Given the description of an element on the screen output the (x, y) to click on. 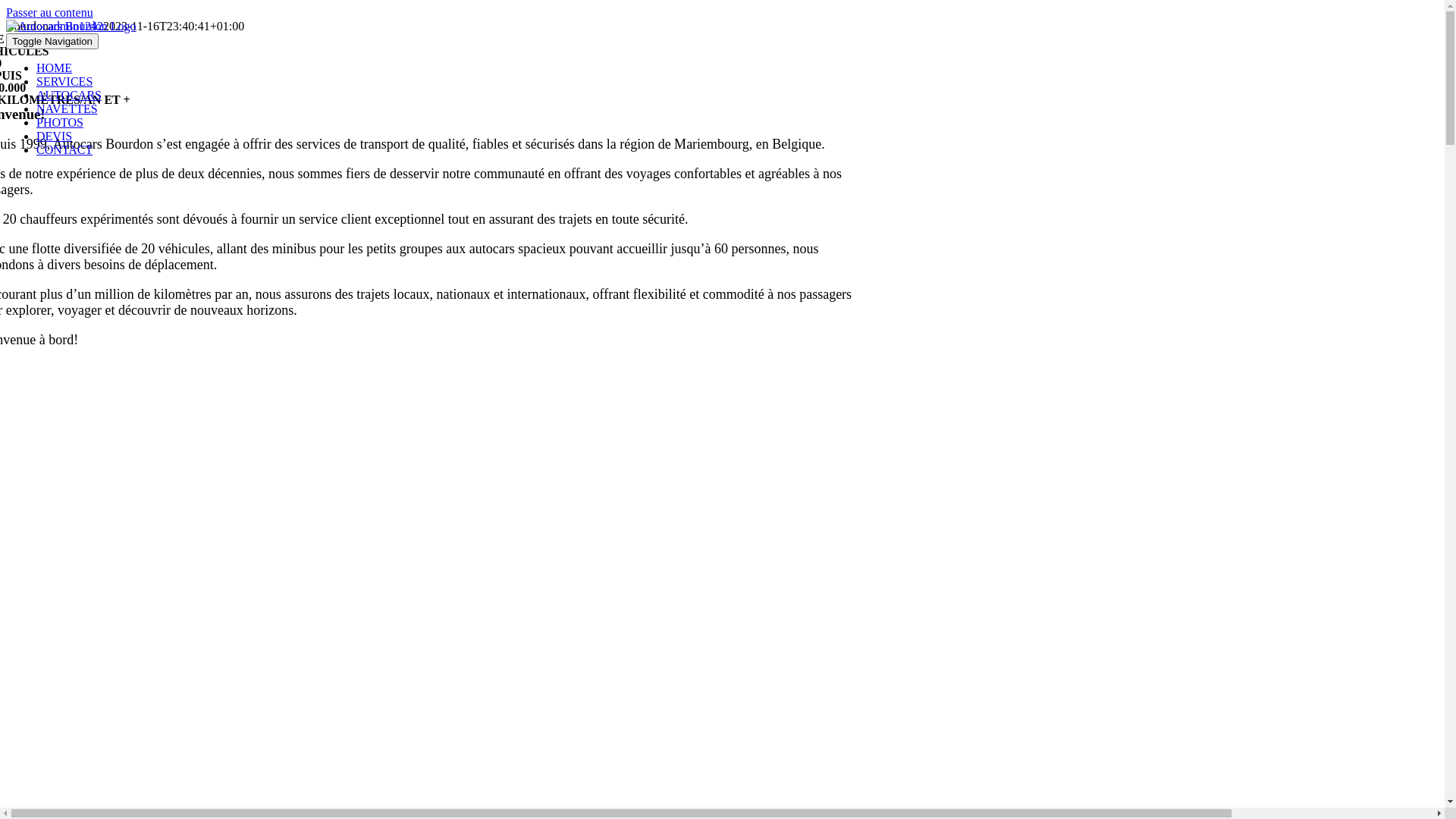
SERVICES Element type: text (64, 81)
NAVETTES Element type: text (66, 108)
PHOTOS Element type: text (59, 122)
admin1242 Element type: text (75, 25)
Toggle Navigation Element type: text (52, 41)
DEVIS Element type: text (54, 135)
HOME Element type: text (54, 67)
Passer au contenu Element type: text (49, 12)
AUTOCARS Element type: text (68, 94)
CONTACT Element type: text (64, 149)
